Given the description of an element on the screen output the (x, y) to click on. 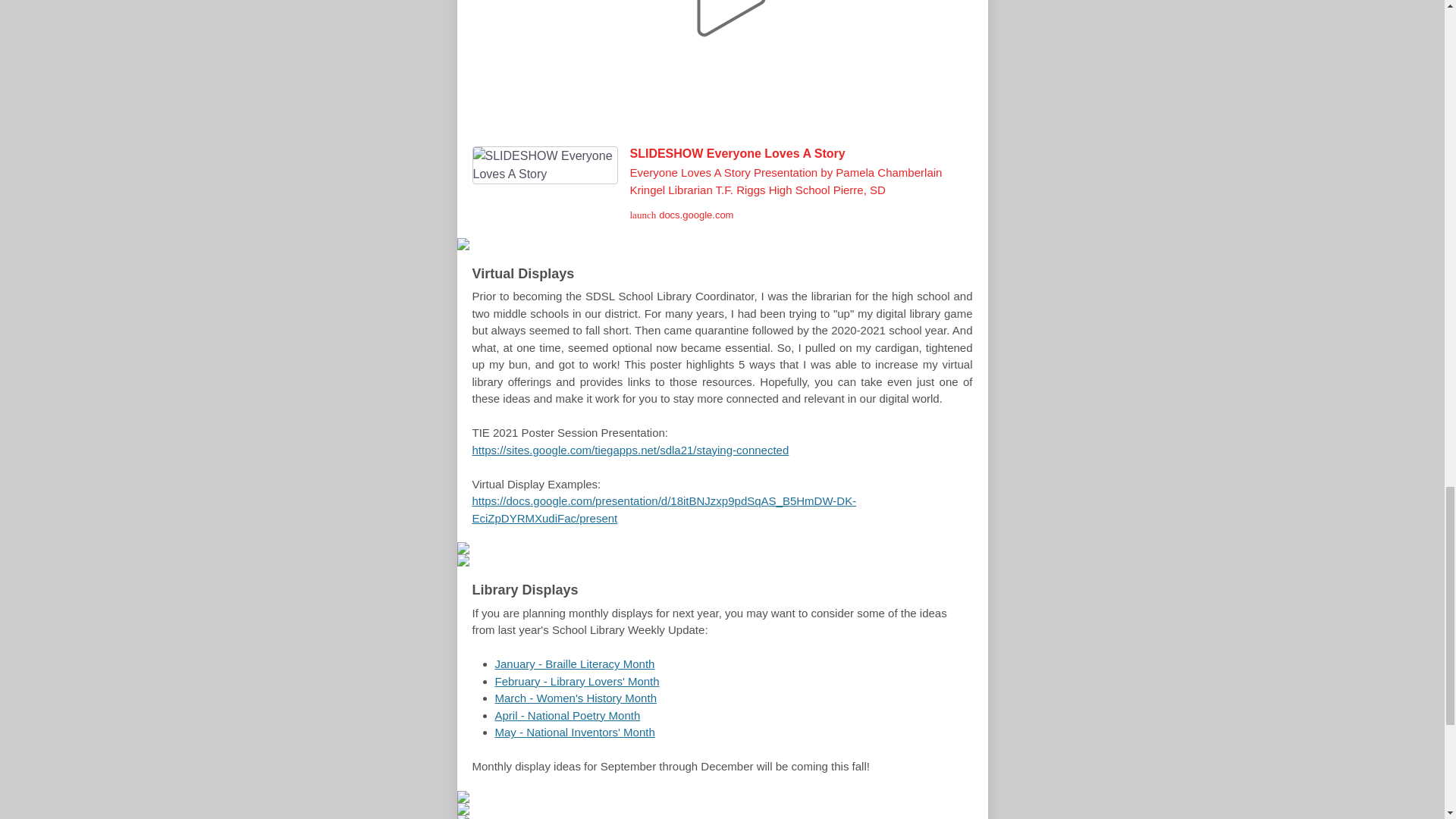
Everybody Loves A Story (722, 65)
February - Library Lovers' Month (577, 680)
May - National Inventors' Month (574, 731)
March - Women's History Month (575, 697)
April - National Poetry Month (567, 715)
January - Braille Literacy Month (574, 663)
